Given the description of an element on the screen output the (x, y) to click on. 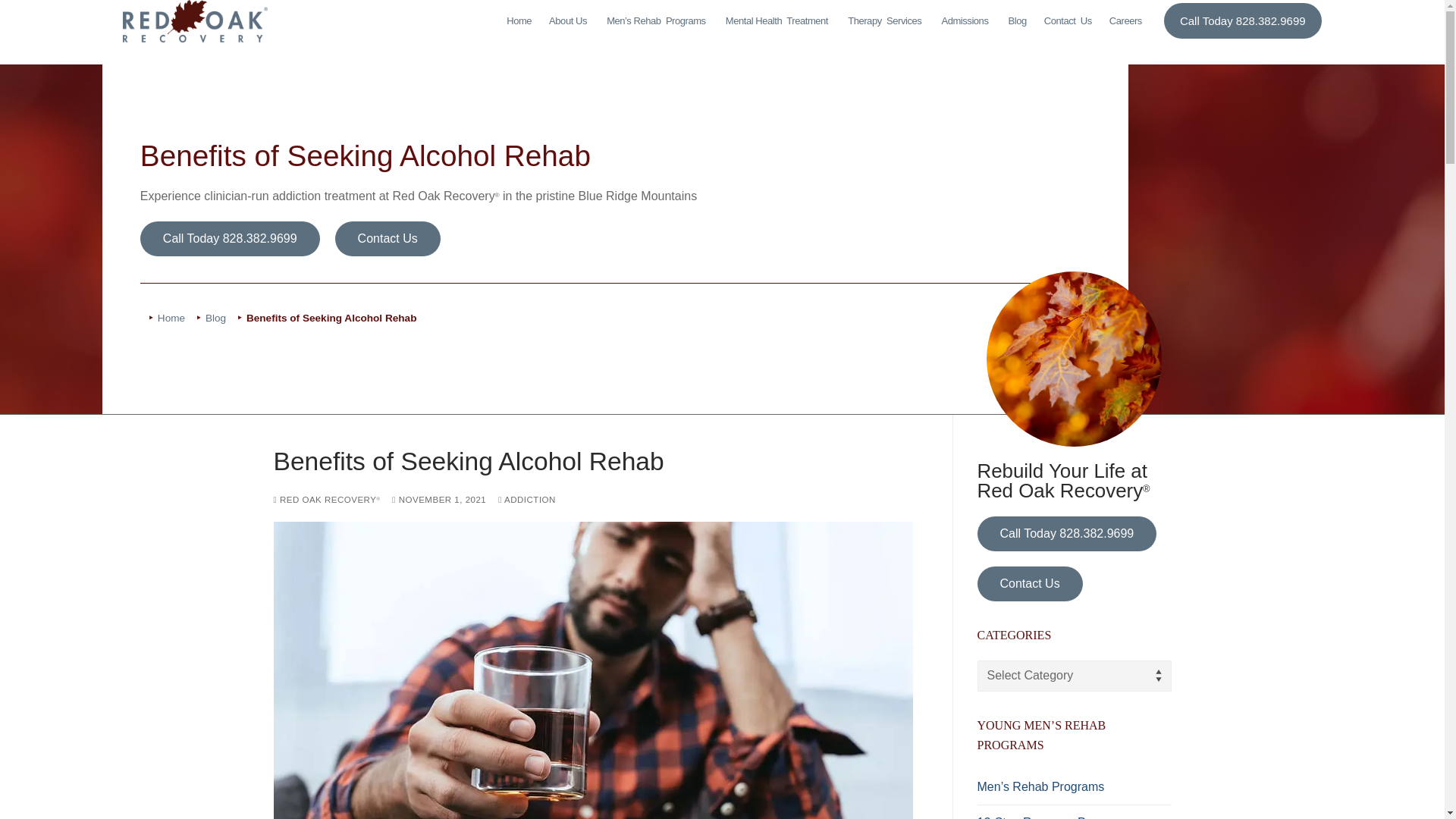
Home (885, 21)
